Given the description of an element on the screen output the (x, y) to click on. 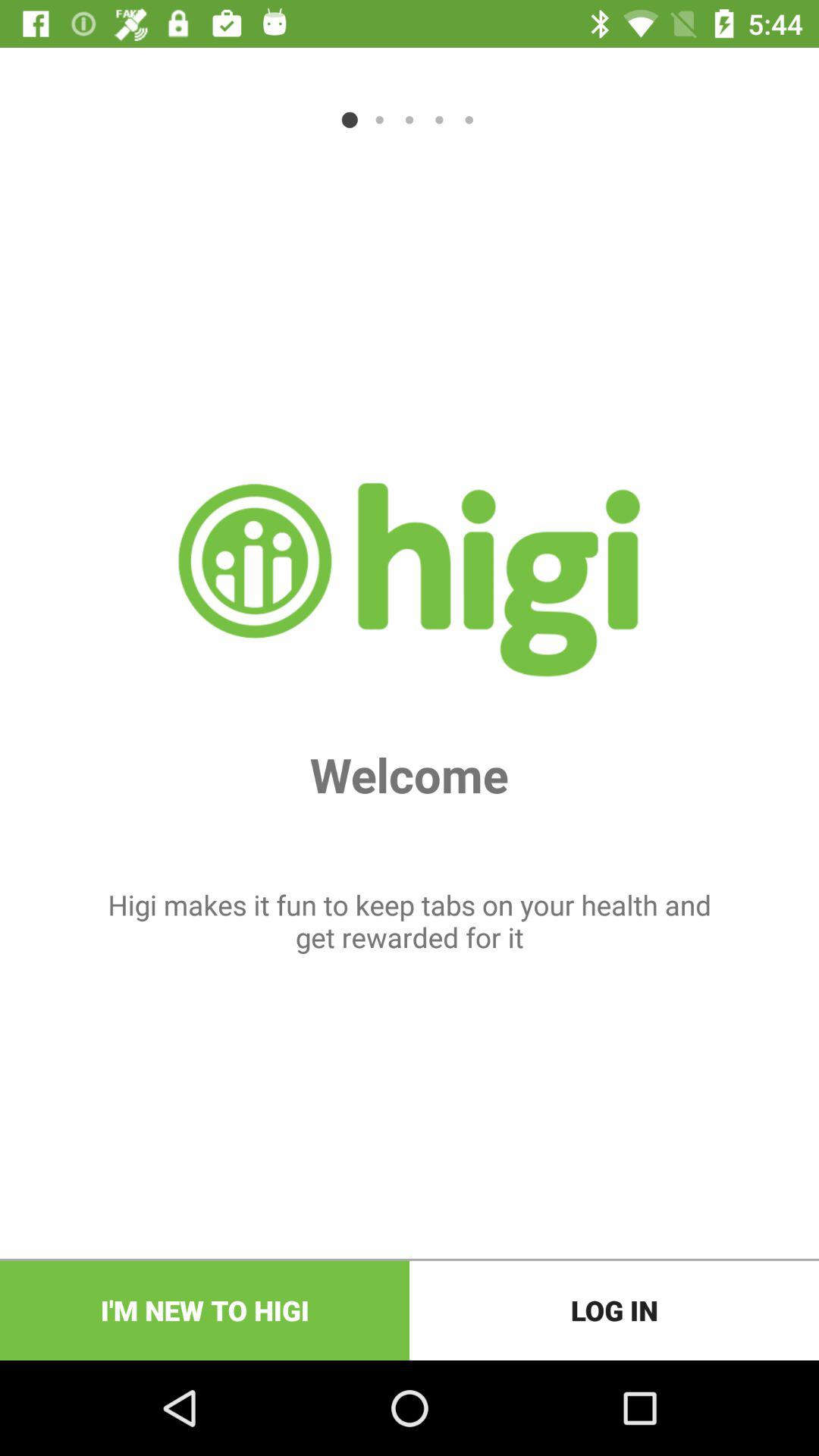
turn on icon to the left of log in item (204, 1310)
